Given the description of an element on the screen output the (x, y) to click on. 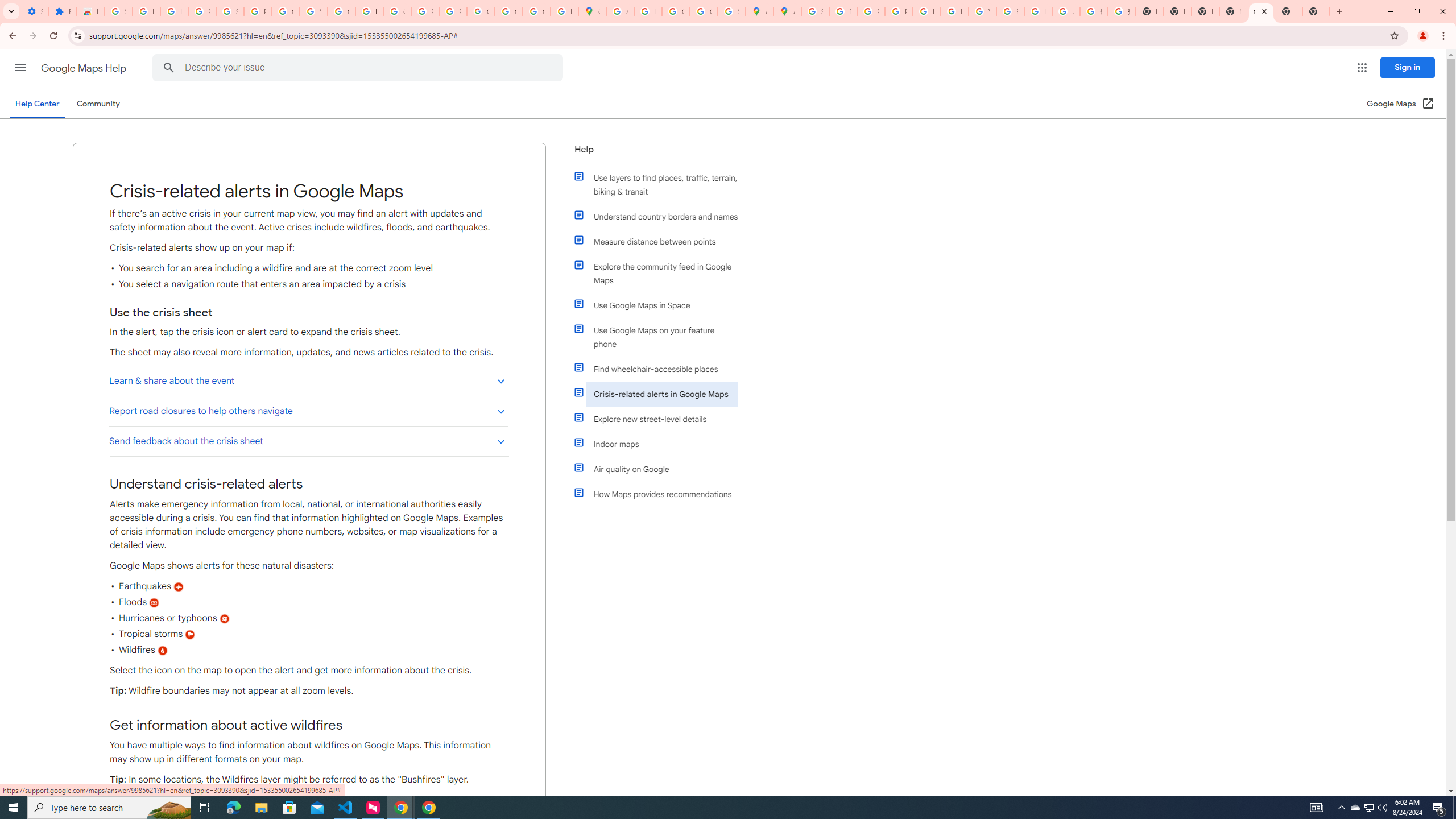
Google Maps (592, 11)
Create your Google Account (675, 11)
Settings - On startup (34, 11)
Find wheelchair-accessible places (661, 368)
Crisis-related alerts in Google Maps (661, 394)
Sign in - Google Accounts (118, 11)
